Given the description of an element on the screen output the (x, y) to click on. 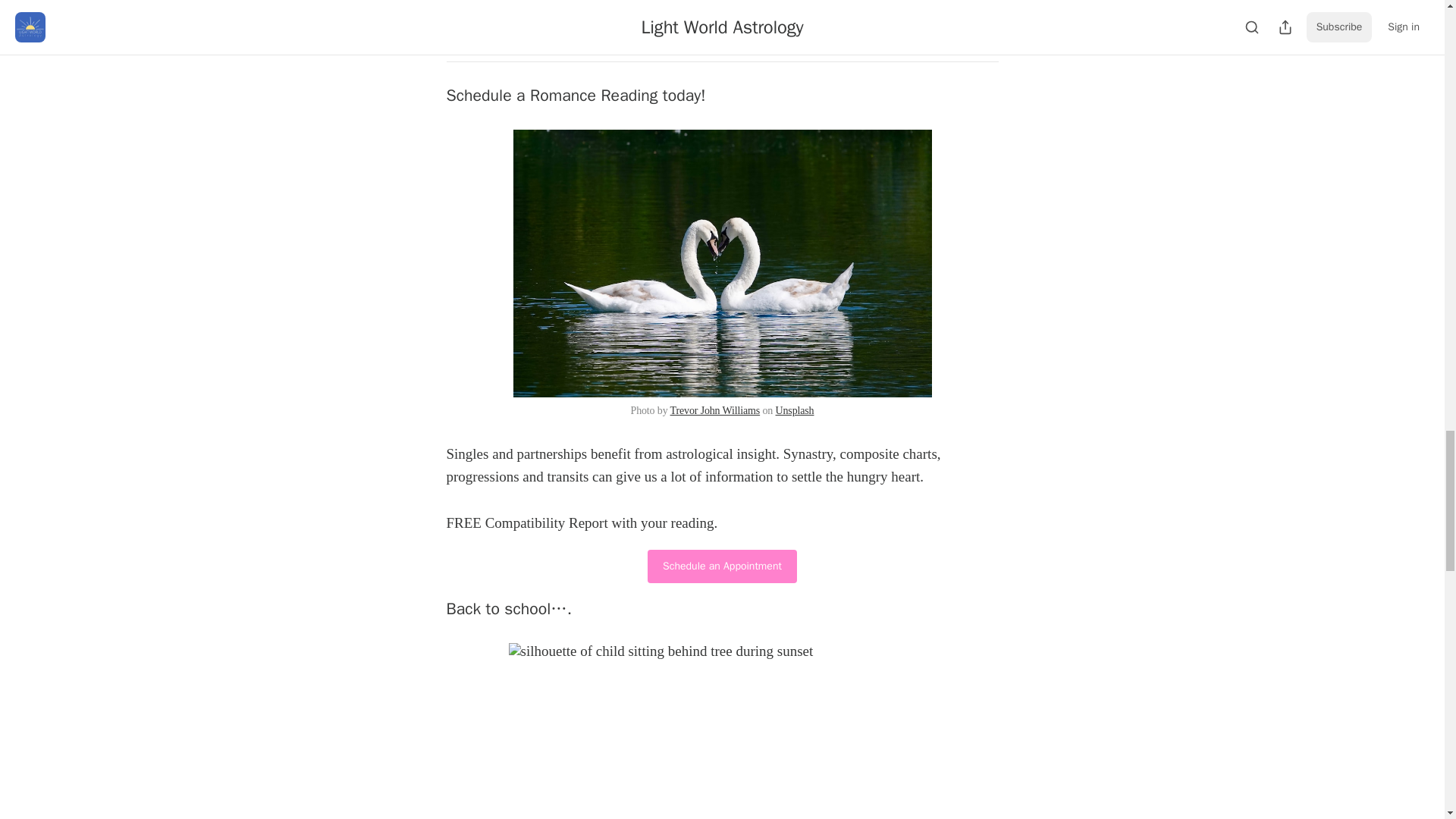
silhouette of child sitting behind tree during sunset (722, 730)
Unsplash (794, 410)
Trevor John Williams (714, 410)
Schedule an Appointment (721, 566)
white swan on water during daytime (721, 263)
